Given the description of an element on the screen output the (x, y) to click on. 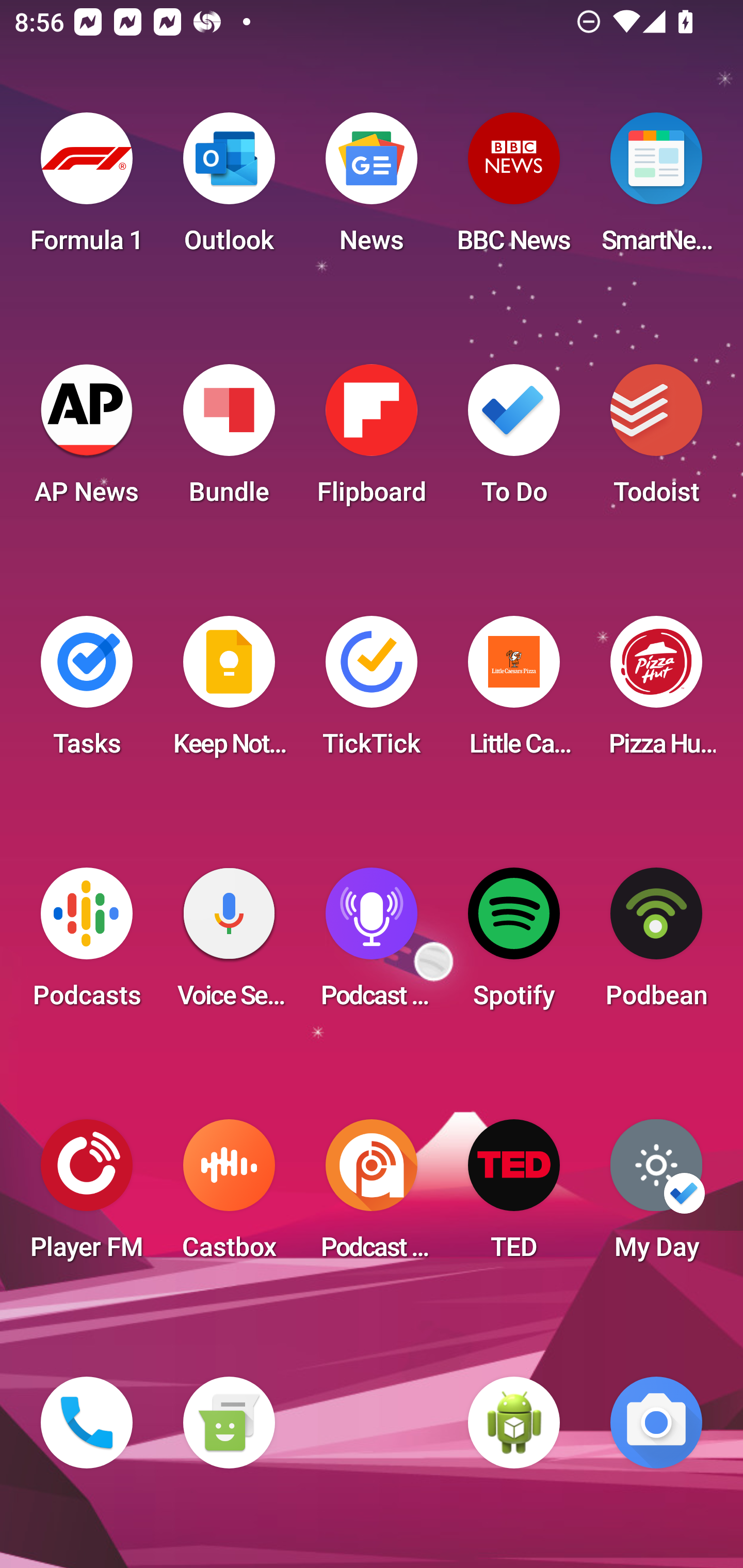
Formula 1 (86, 188)
Outlook (228, 188)
News (371, 188)
BBC News (513, 188)
SmartNews (656, 188)
AP News (86, 440)
Bundle (228, 440)
Flipboard (371, 440)
To Do (513, 440)
Todoist (656, 440)
Tasks (86, 692)
Keep Notes (228, 692)
TickTick (371, 692)
Little Caesars Pizza (513, 692)
Pizza Hut HK & Macau (656, 692)
Podcasts (86, 943)
Voice Search (228, 943)
Podcast Player (371, 943)
Spotify (513, 943)
Podbean (656, 943)
Player FM (86, 1195)
Castbox (228, 1195)
Podcast Addict (371, 1195)
TED (513, 1195)
My Day (656, 1195)
Phone (86, 1422)
Messaging (228, 1422)
WebView Browser Tester (513, 1422)
Camera (656, 1422)
